Given the description of an element on the screen output the (x, y) to click on. 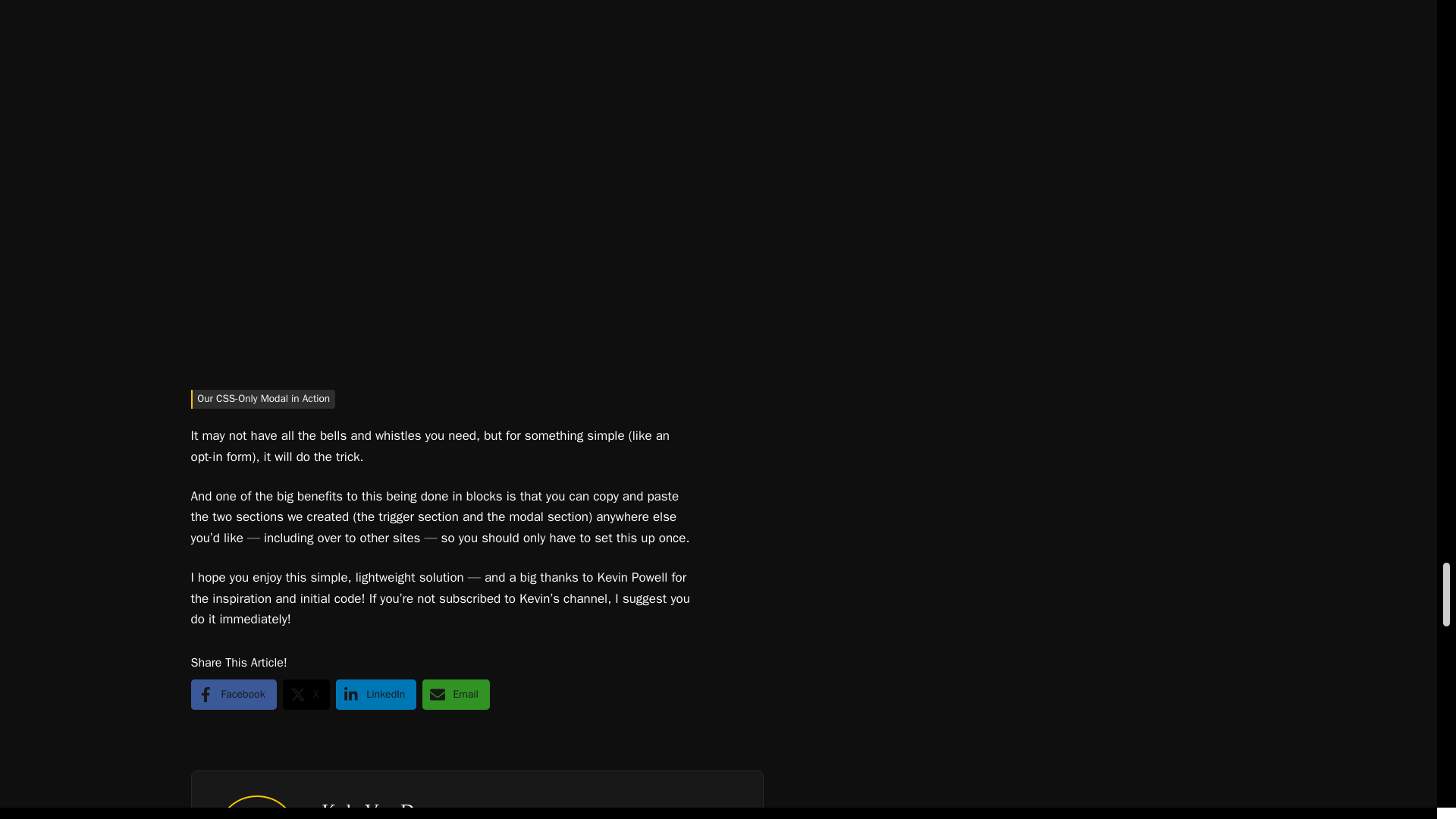
Facebook (233, 694)
X (306, 694)
